Given the description of an element on the screen output the (x, y) to click on. 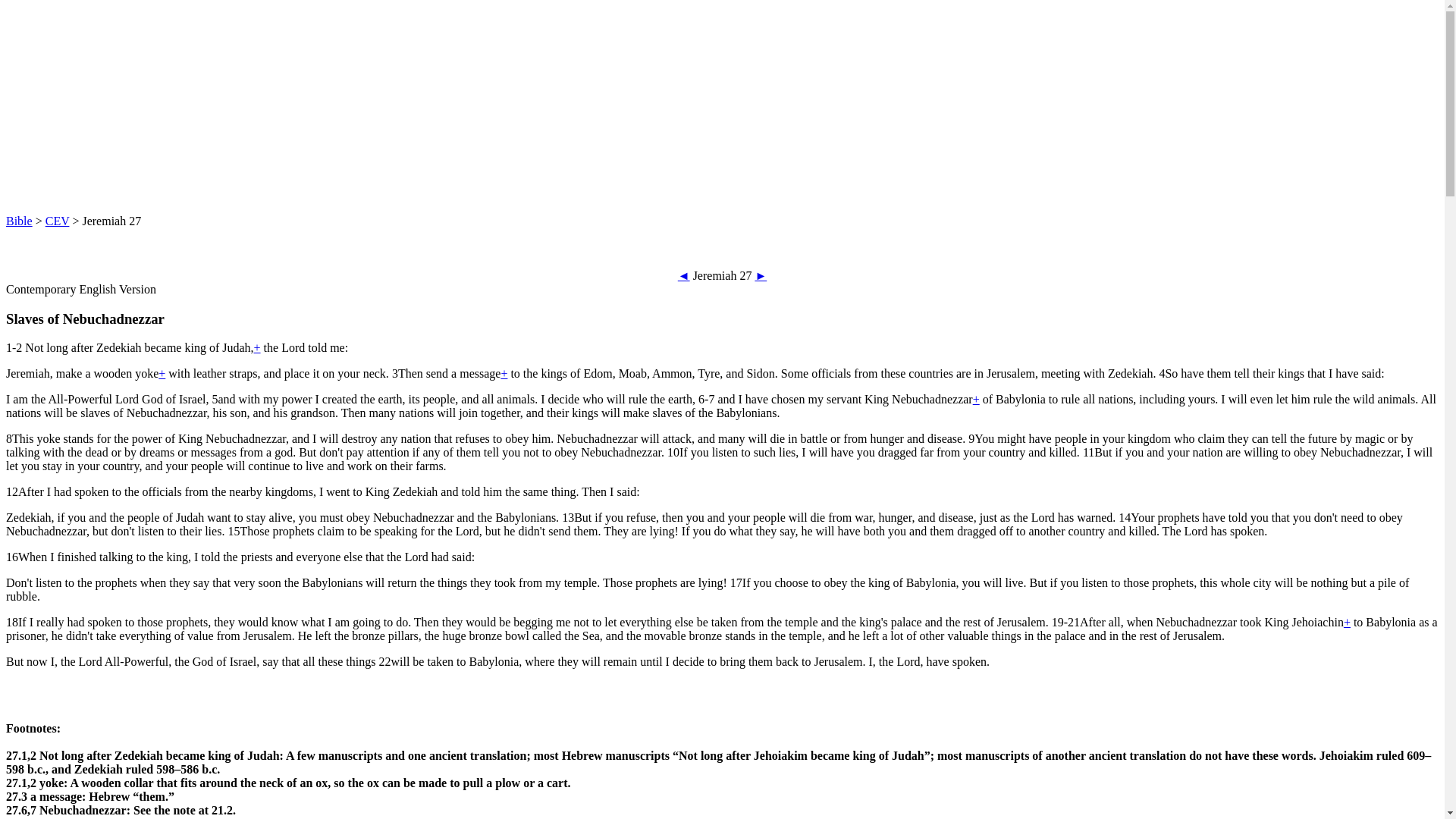
Jeremiah 28 (760, 275)
CEV (57, 220)
Bible (18, 220)
Jeremiah 26 (684, 275)
